Given the description of an element on the screen output the (x, y) to click on. 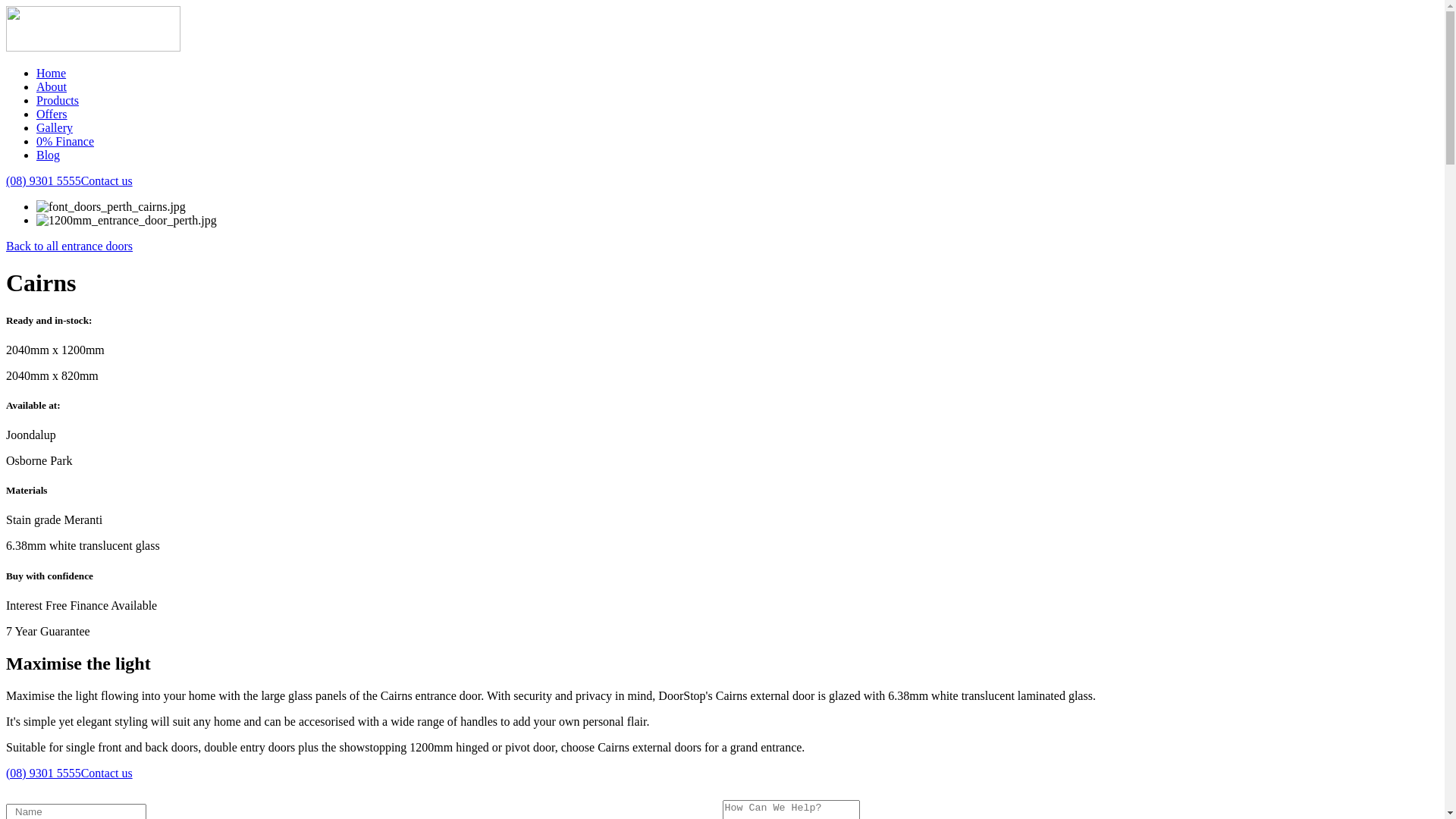
Back to all entrance doors Element type: text (69, 245)
Blog Element type: text (47, 154)
About Element type: text (51, 86)
Home Element type: text (50, 72)
Contact us Element type: text (106, 772)
Gallery Element type: text (54, 127)
0% Finance Element type: text (65, 140)
(08) 9301 5555 Element type: text (43, 772)
(08) 9301 5555 Element type: text (43, 180)
Contact us Element type: text (106, 180)
Offers Element type: text (51, 113)
Products Element type: text (57, 100)
